Given the description of an element on the screen output the (x, y) to click on. 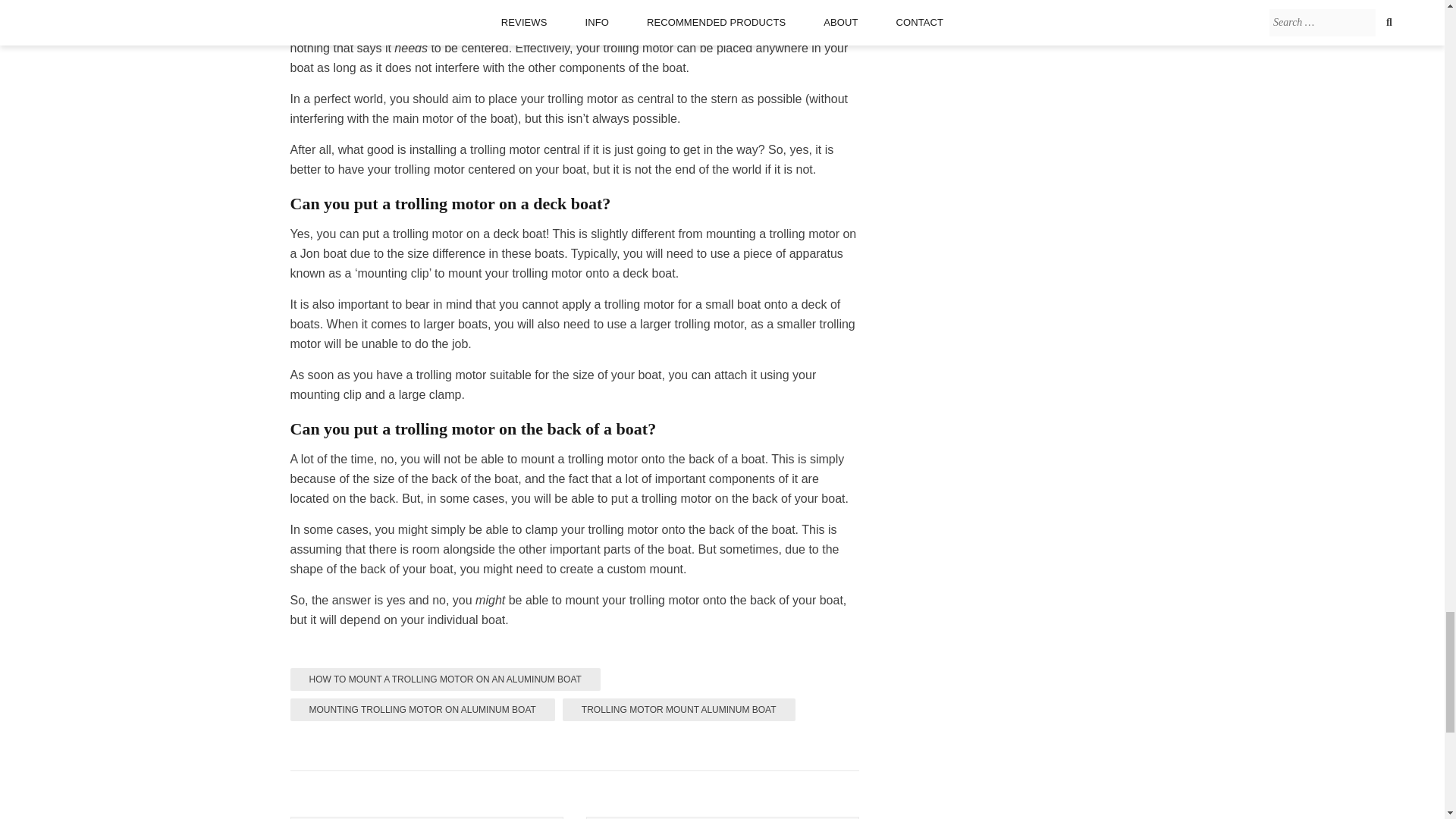
HOW TO MOUNT A TROLLING MOTOR ON AN ALUMINUM BOAT (444, 679)
TROLLING MOTOR MOUNT ALUMINUM BOAT (678, 709)
MOUNTING TROLLING MOTOR ON ALUMINUM BOAT (421, 709)
